Given the description of an element on the screen output the (x, y) to click on. 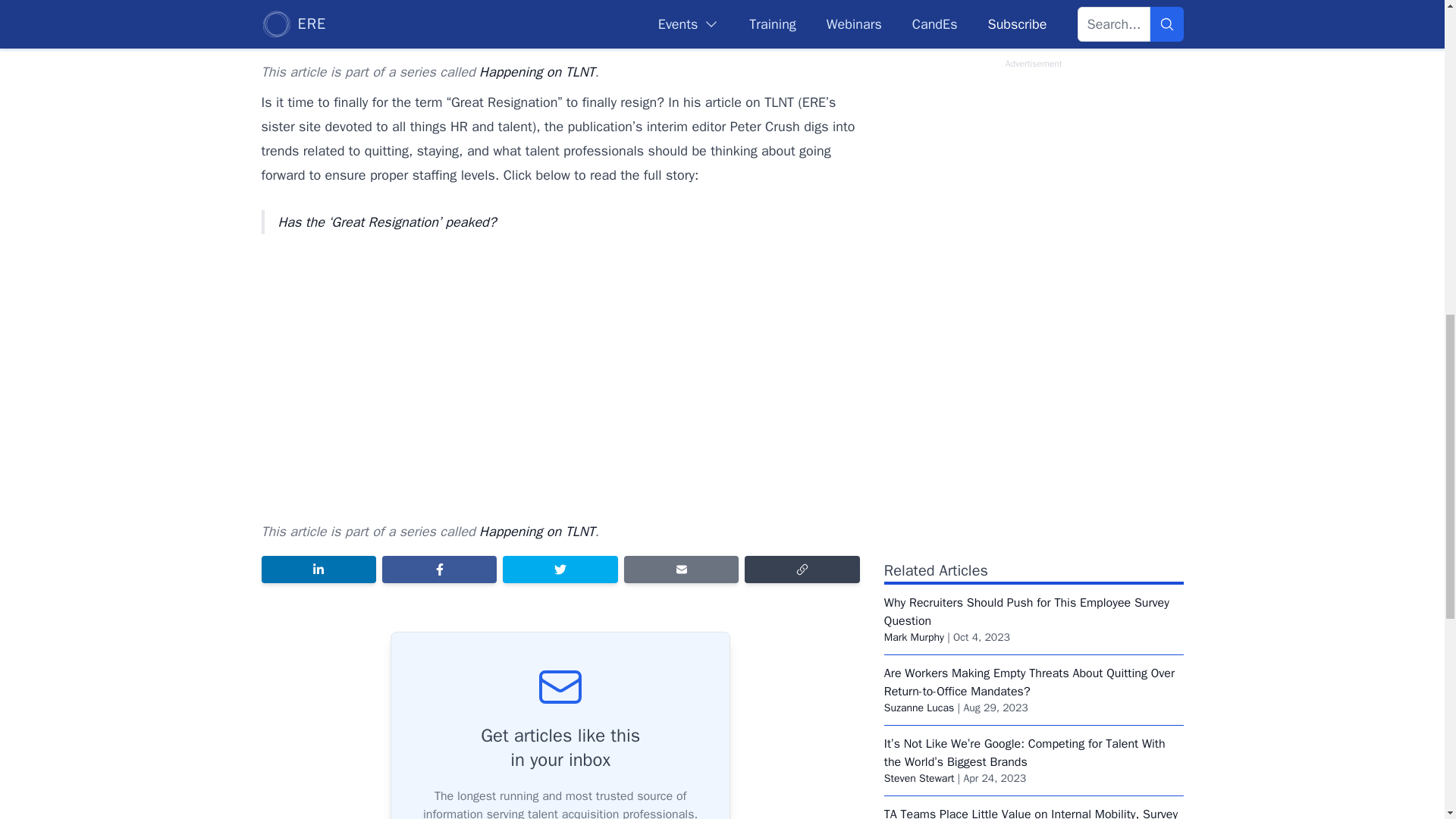
Happening on TLNT (536, 531)
Happening on TLNT (536, 71)
Steven Stewart (919, 778)
Mark Murphy (913, 636)
3rd party ad content (1033, 269)
Why Recruiters Should Push for This Employee Survey Question (1026, 611)
Suzanne Lucas (919, 707)
